Given the description of an element on the screen output the (x, y) to click on. 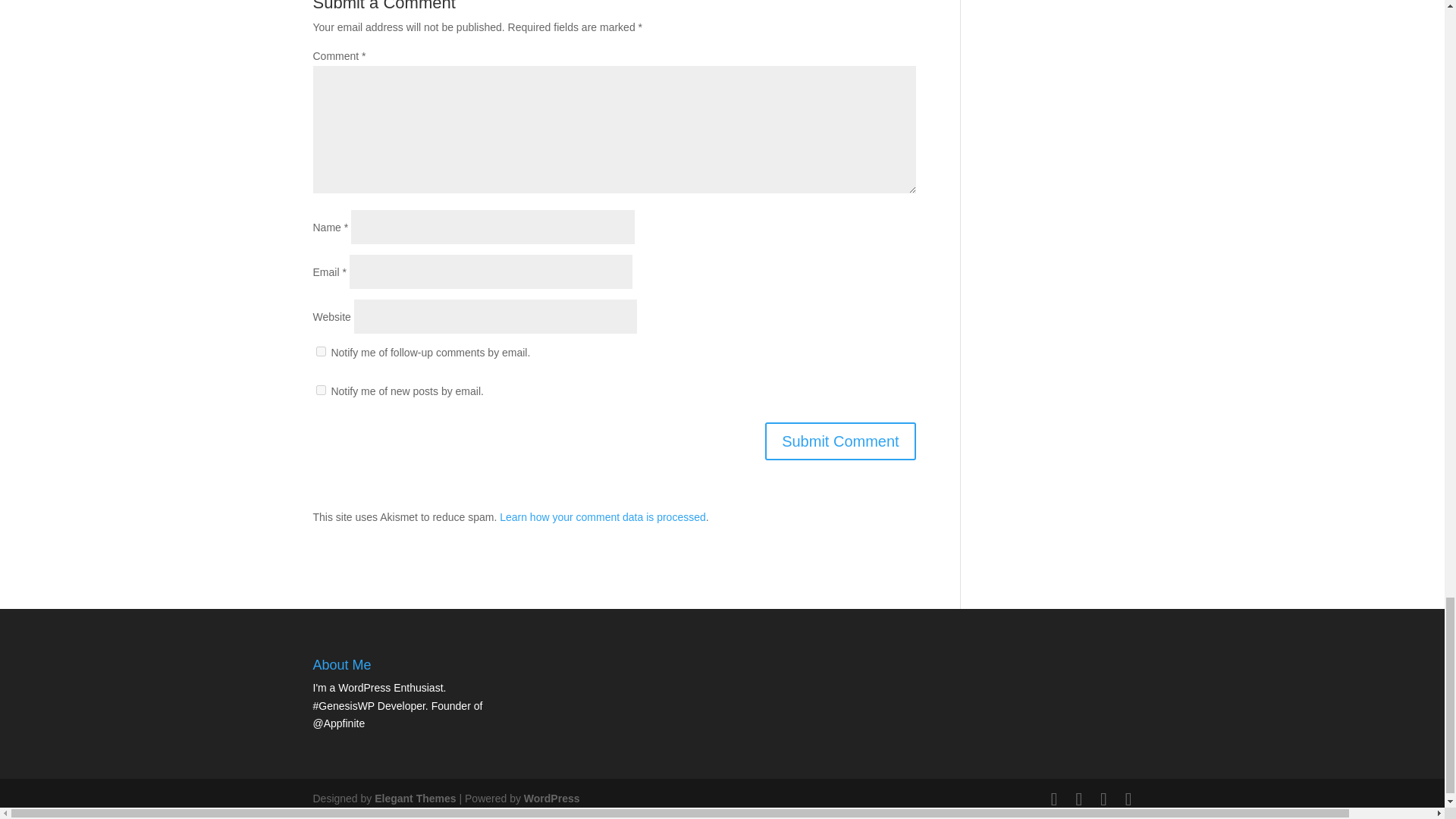
subscribe (319, 351)
Submit Comment (840, 441)
Submit Comment (840, 441)
subscribe (319, 389)
Premium WordPress Themes (414, 798)
